Given the description of an element on the screen output the (x, y) to click on. 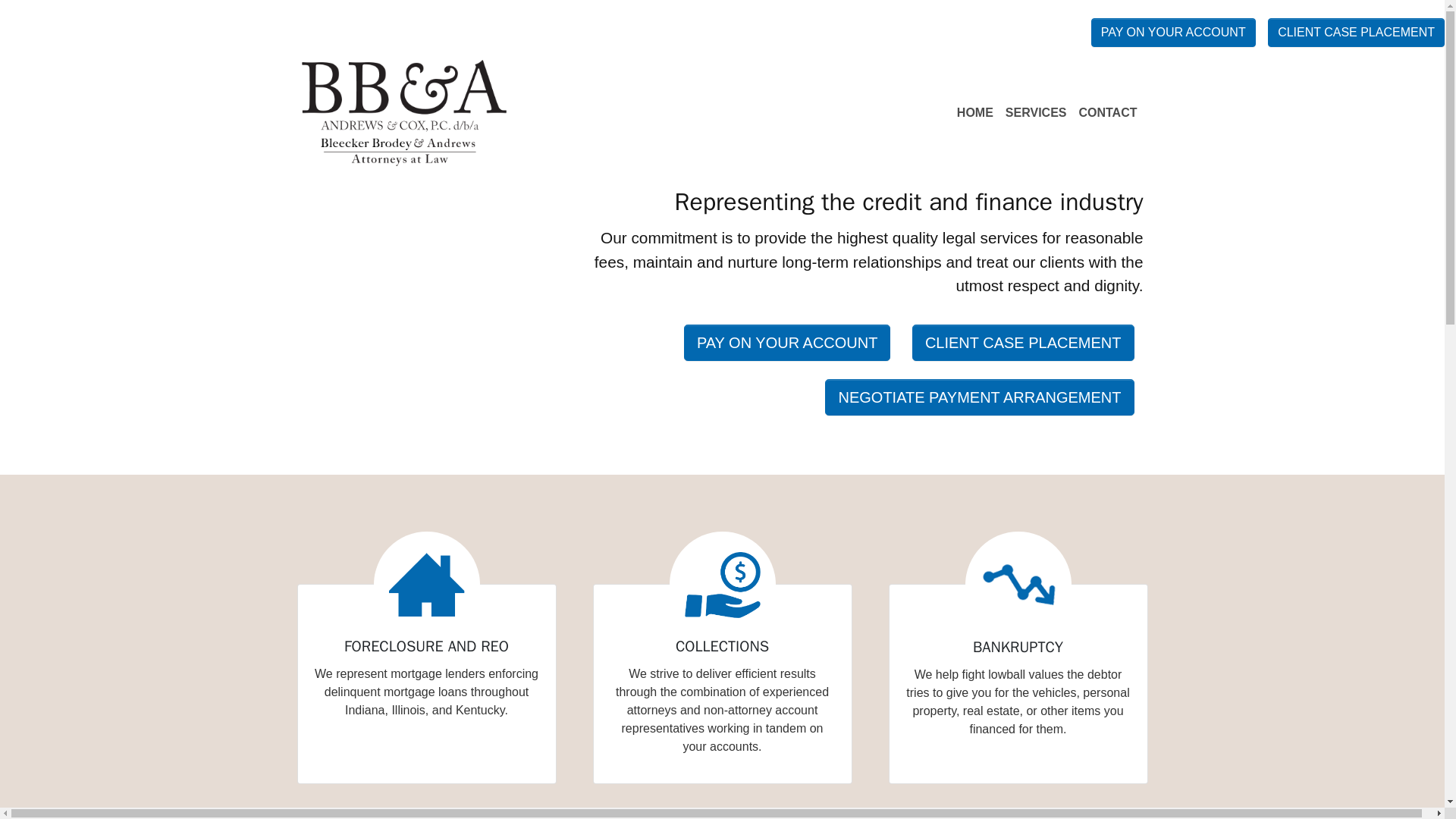
NEGOTIATE PAYMENT ARRANGEMENT (979, 397)
HOME (974, 112)
CONTACT (1106, 112)
CLIENT CASE PLACEMENT (1023, 342)
CLIENT CASE PLACEMENT (1356, 32)
PAY ON YOUR ACCOUNT (787, 342)
PAY ON YOUR ACCOUNT (1172, 32)
SERVICES (1035, 112)
